Given the description of an element on the screen output the (x, y) to click on. 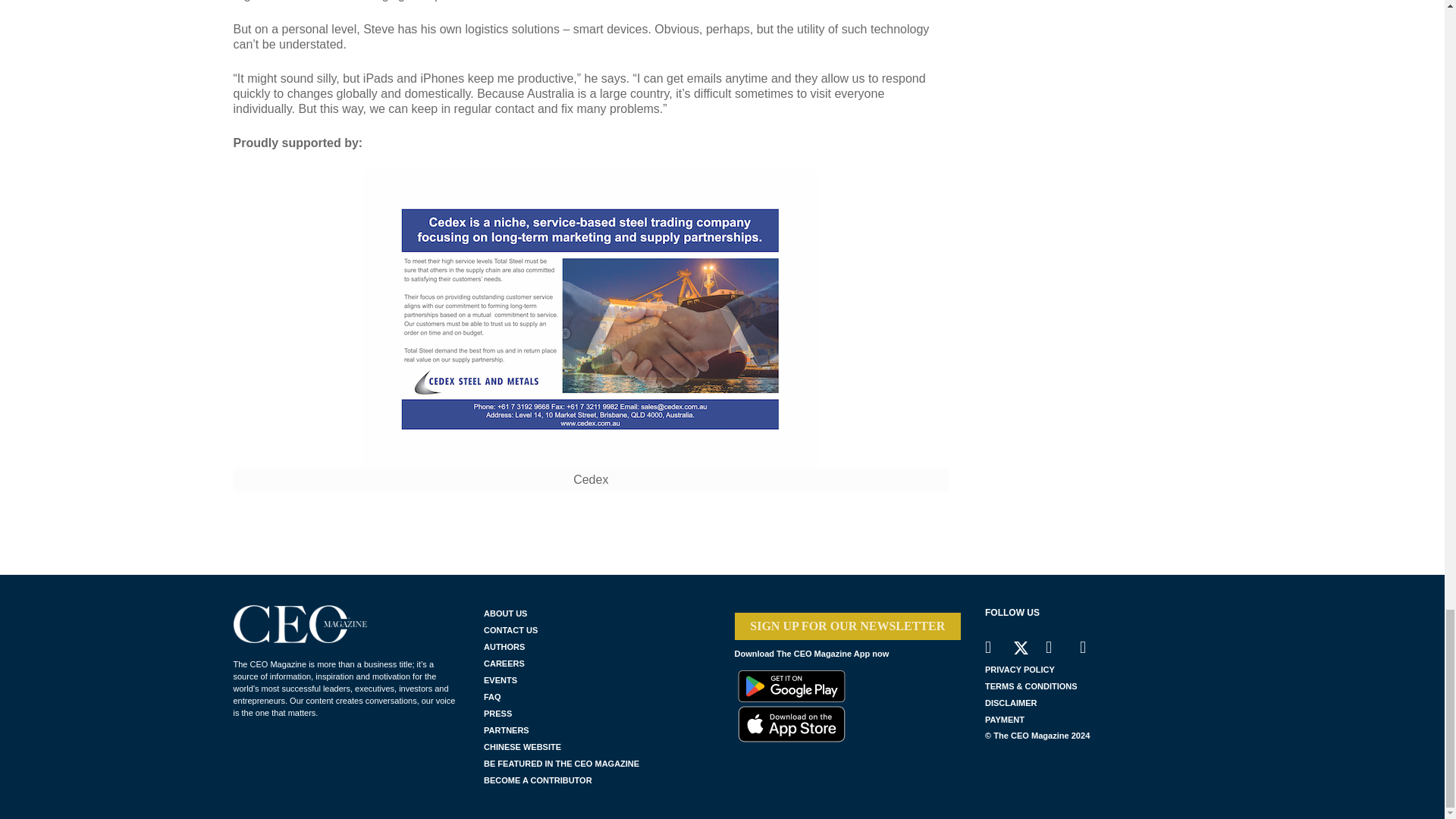
Contact Us (596, 629)
PARTNERS (596, 729)
Press (596, 713)
AUTHORS (596, 646)
ABOUT US (596, 613)
CONTACT US (596, 629)
About Us (596, 613)
BE FEATURED IN THE CEO MAGAZINE (596, 763)
EVENTS (596, 679)
PRESS (596, 713)
